Given the description of an element on the screen output the (x, y) to click on. 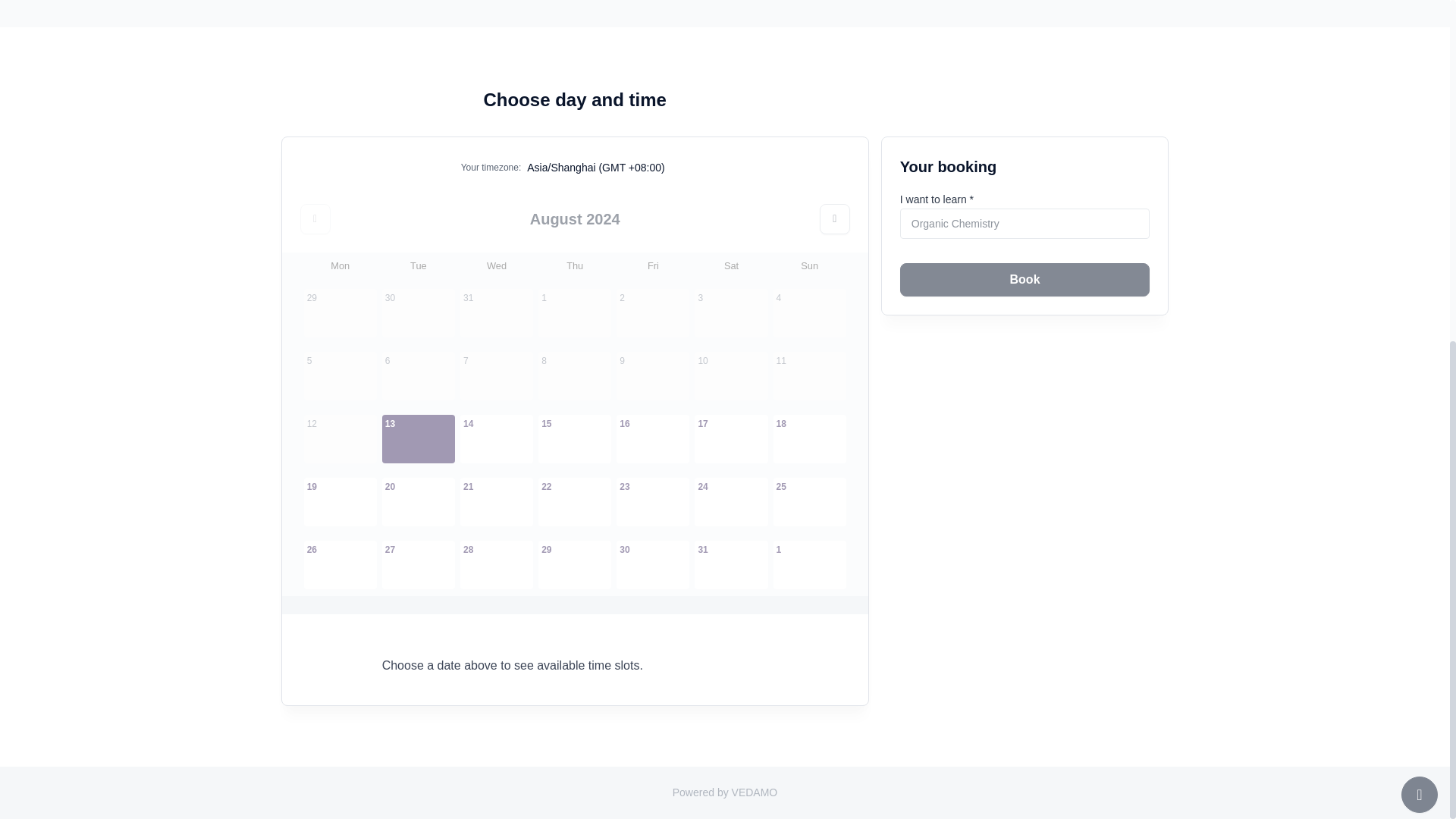
25 (809, 501)
Next (834, 218)
Monday (339, 265)
15 (574, 438)
26 (340, 564)
Selected date is unavailable (339, 312)
17 (730, 438)
Next (834, 218)
24 (730, 501)
20 (417, 501)
